Given the description of an element on the screen output the (x, y) to click on. 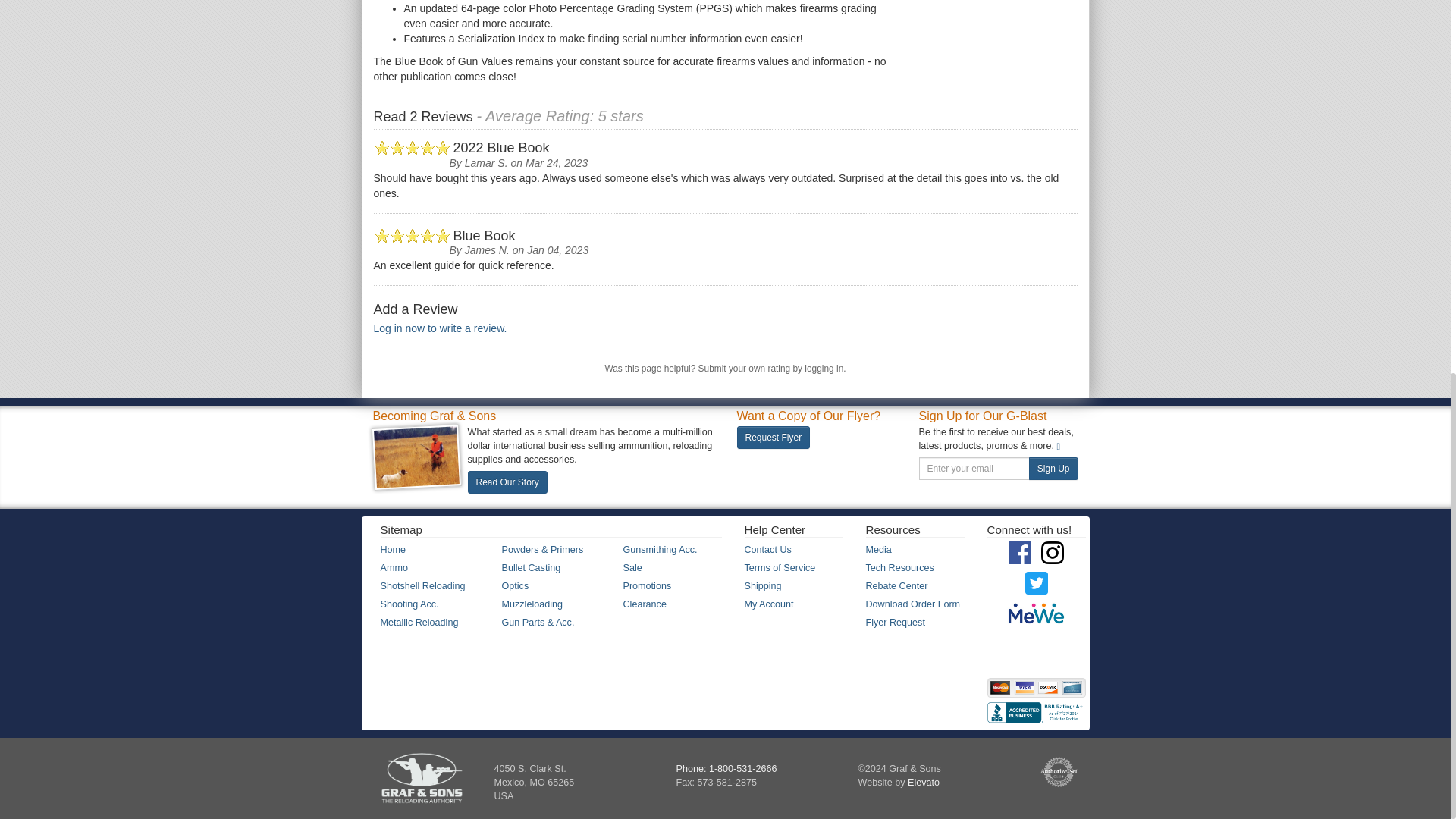
Sign Up (1053, 468)
